Given the description of an element on the screen output the (x, y) to click on. 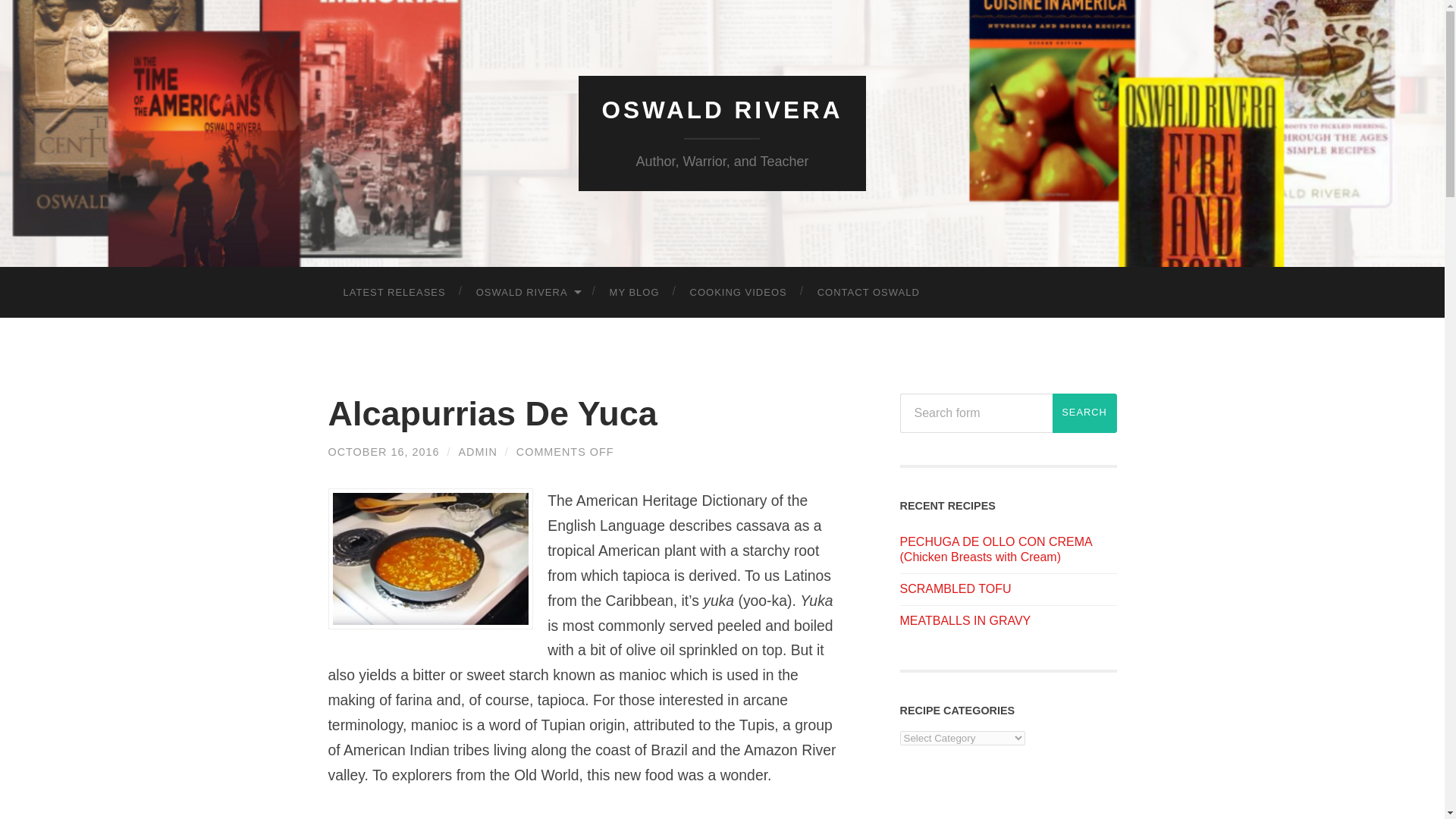
ADMIN (477, 451)
OSWALD RIVERA (527, 291)
Alcapurrias De Yuca (383, 451)
Alcapurrias De Yuca (491, 413)
LATEST RELEASES (393, 291)
OCTOBER 16, 2016 (383, 451)
CONTACT OSWALD (868, 291)
OSWALD RIVERA (722, 109)
MY BLOG (634, 291)
Search (1084, 412)
Posts by admin (477, 451)
MEATBALLS IN GRAVY (964, 620)
Alcapurrias De Yuca (491, 413)
SCRAMBLED TOFU (954, 588)
Search (1084, 412)
